Given the description of an element on the screen output the (x, y) to click on. 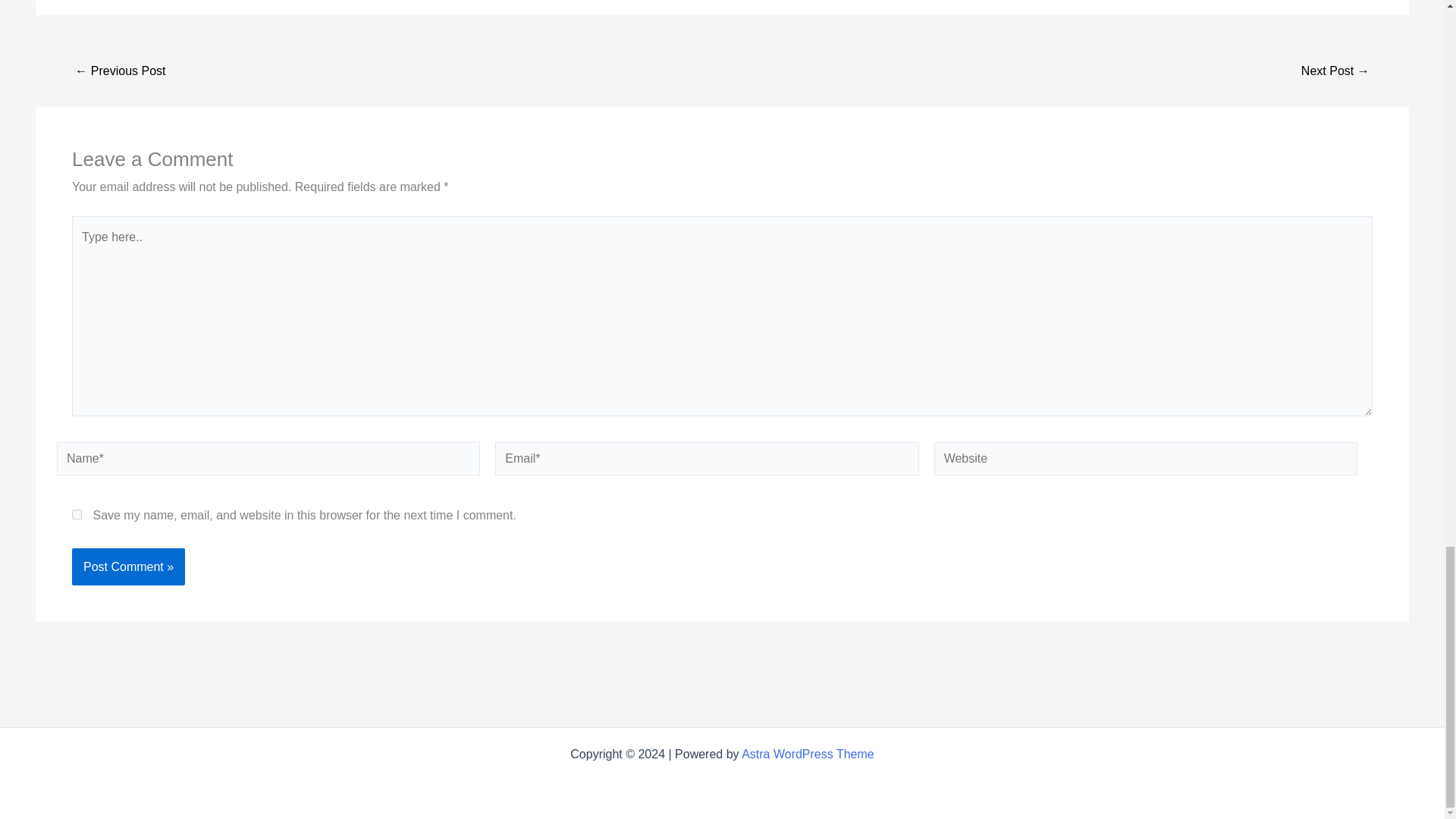
Astra WordPress Theme (808, 753)
Built Tough For Home And Businesses Alike (1334, 70)
yes (76, 514)
